Given the description of an element on the screen output the (x, y) to click on. 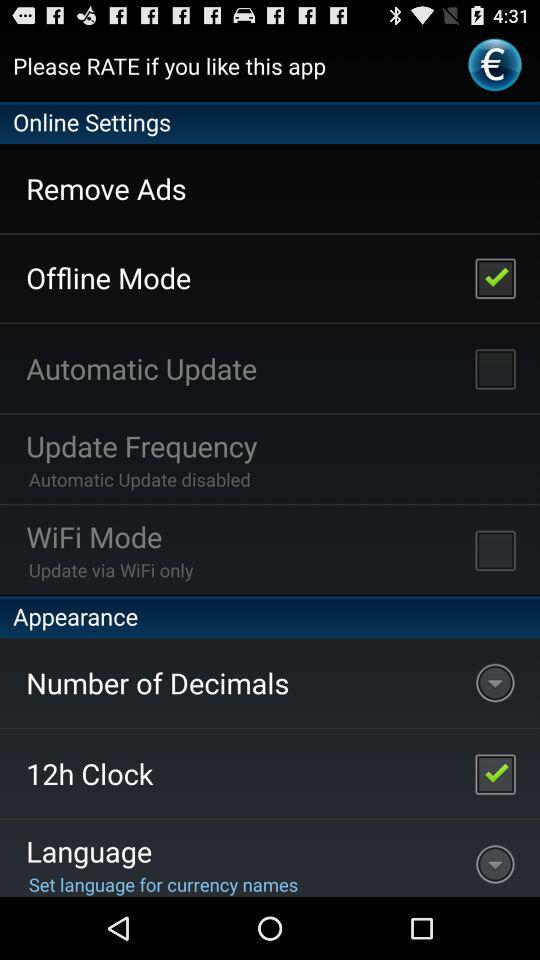
view time as 12 or 24 digits (495, 773)
